Given the description of an element on the screen output the (x, y) to click on. 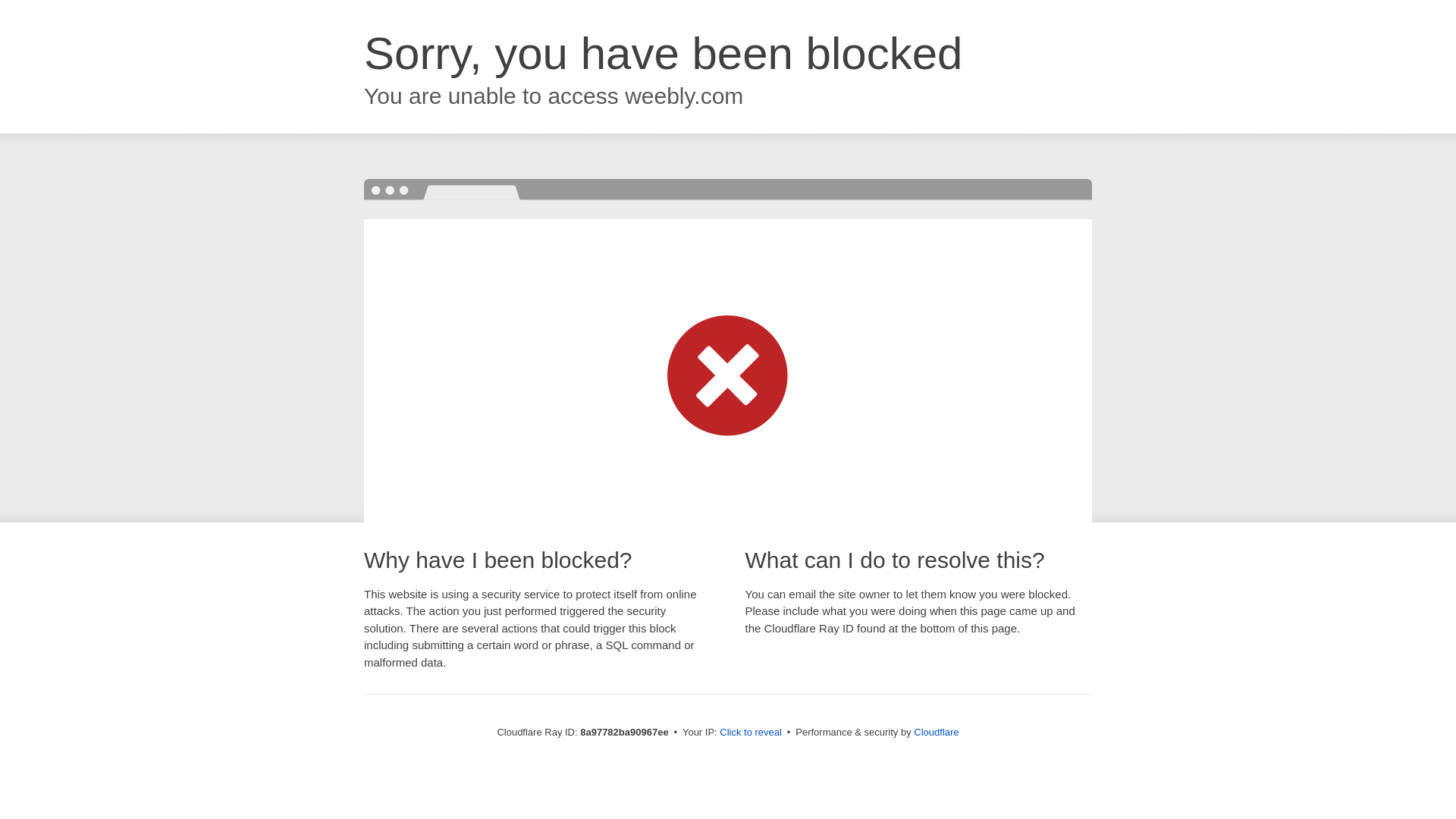
Click to reveal (750, 732)
Cloudflare (936, 731)
